Given the description of an element on the screen output the (x, y) to click on. 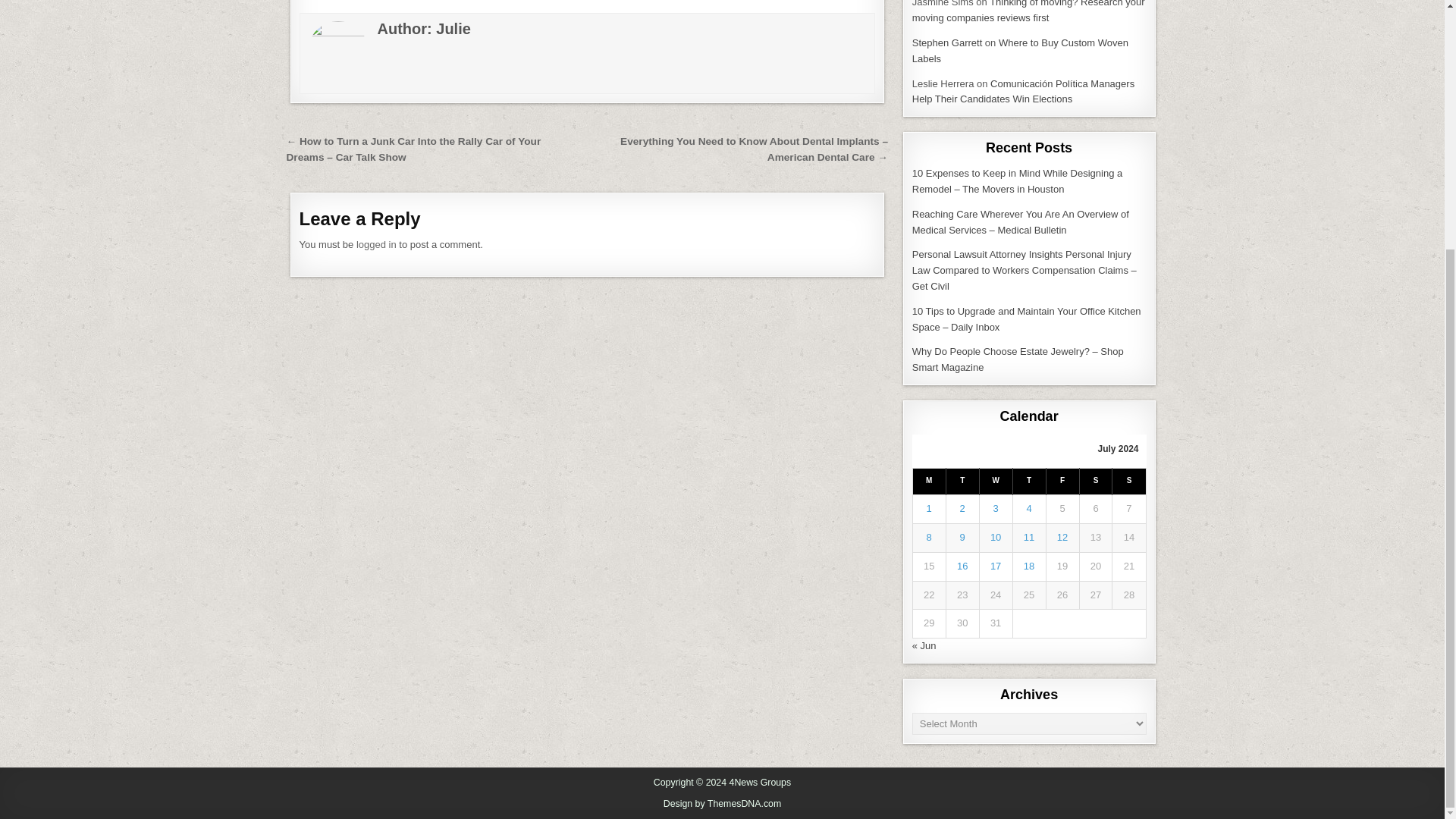
Wednesday (994, 481)
17 (995, 565)
1 (928, 508)
Monday (928, 481)
10 (995, 536)
Where to Buy Custom Woven Labels (1020, 50)
Saturday (1095, 481)
3 (995, 508)
4 (1028, 508)
Stephen Garrett (947, 42)
logged in (376, 244)
9 (962, 536)
Tuesday (961, 481)
16 (962, 565)
